Given the description of an element on the screen output the (x, y) to click on. 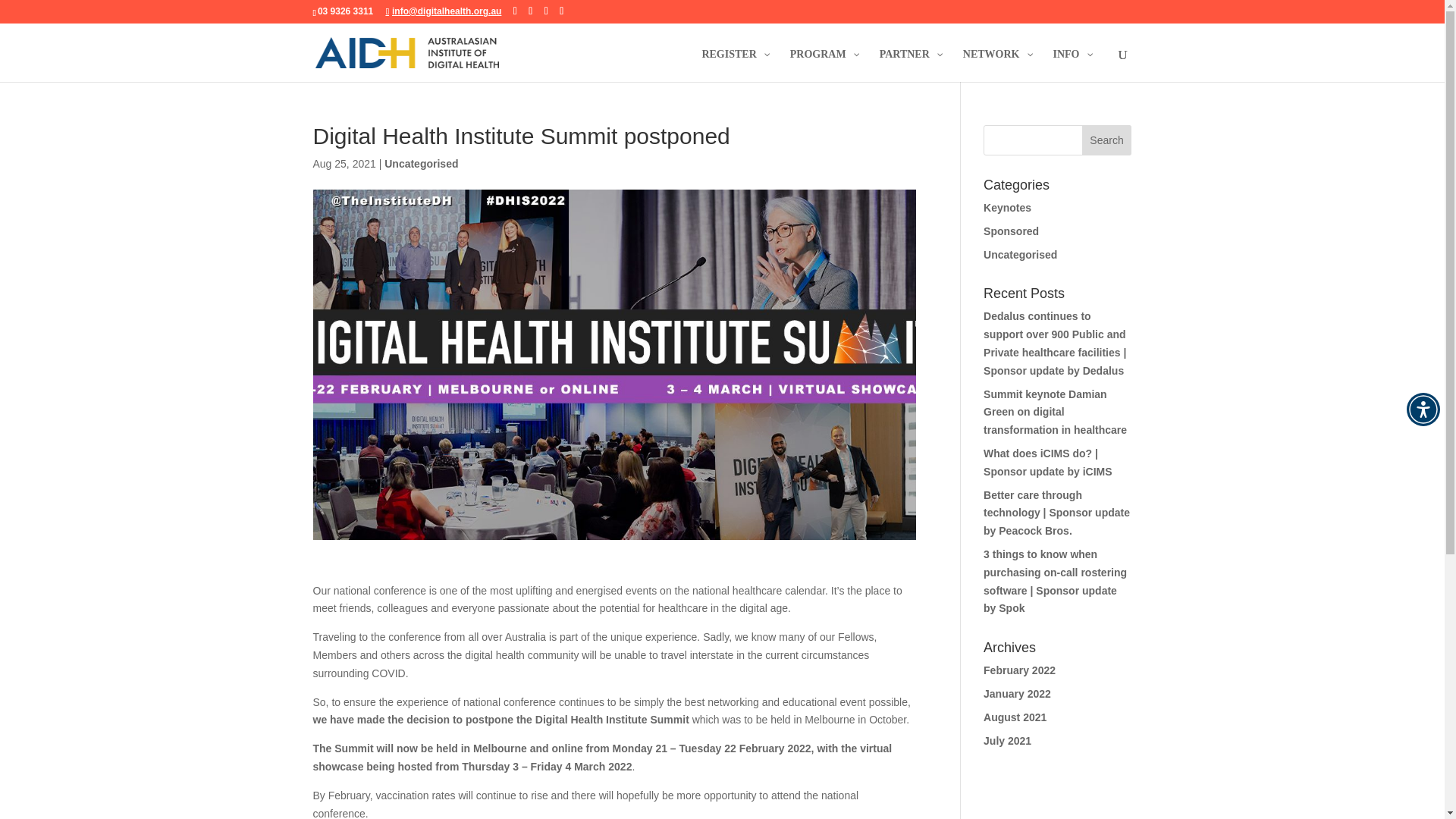
PARTNER (909, 64)
INFO (1072, 64)
REGISTER (733, 64)
Accessibility Menu (1422, 409)
PROGRAM (822, 64)
Search (1106, 140)
NETWORK (997, 64)
